Given the description of an element on the screen output the (x, y) to click on. 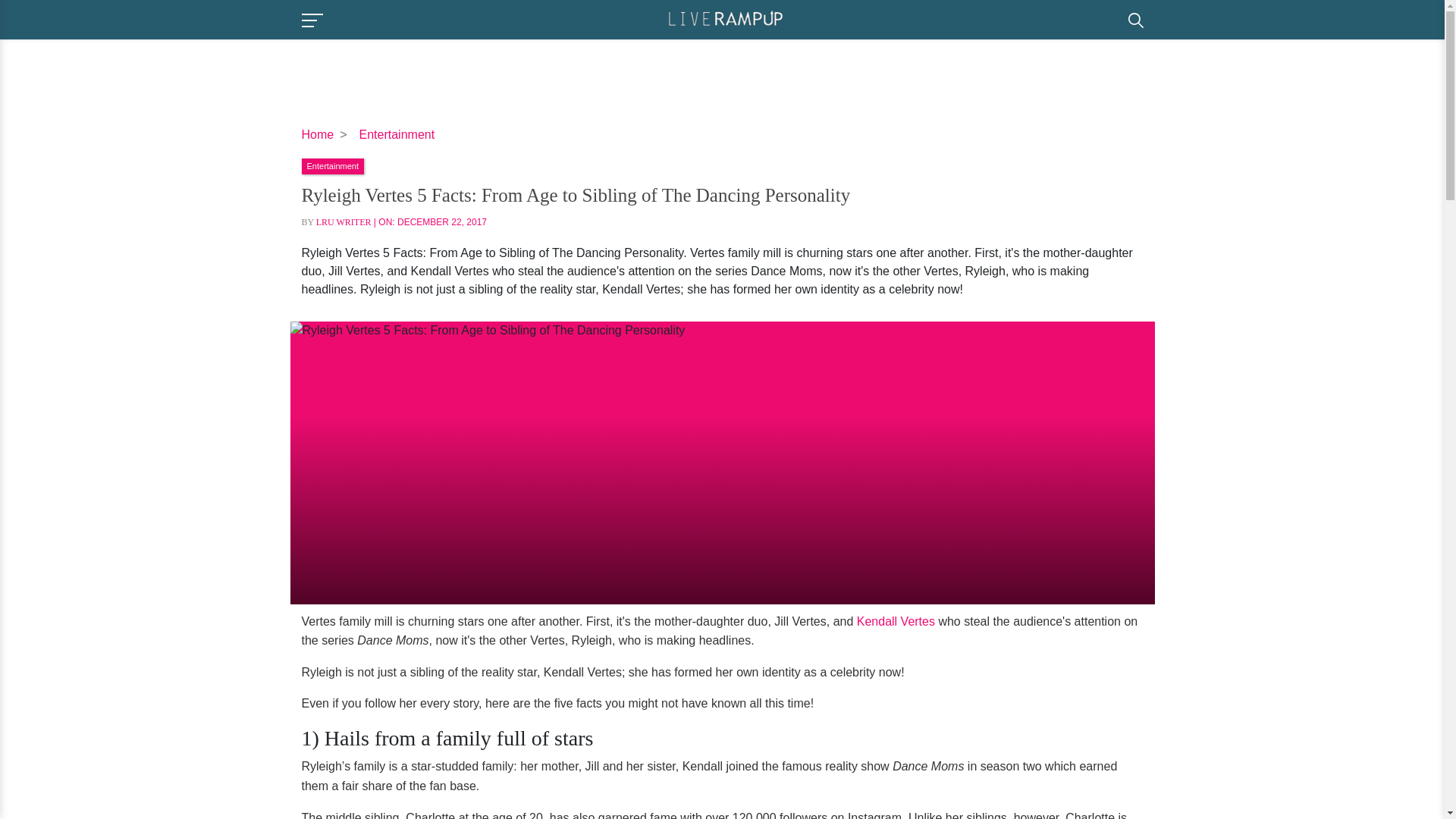
Kendall Vertes (895, 620)
Entertainment (397, 133)
LRU WRITER (343, 222)
Entertainment (332, 164)
Liverampup (725, 17)
Home (317, 133)
